Given the description of an element on the screen output the (x, y) to click on. 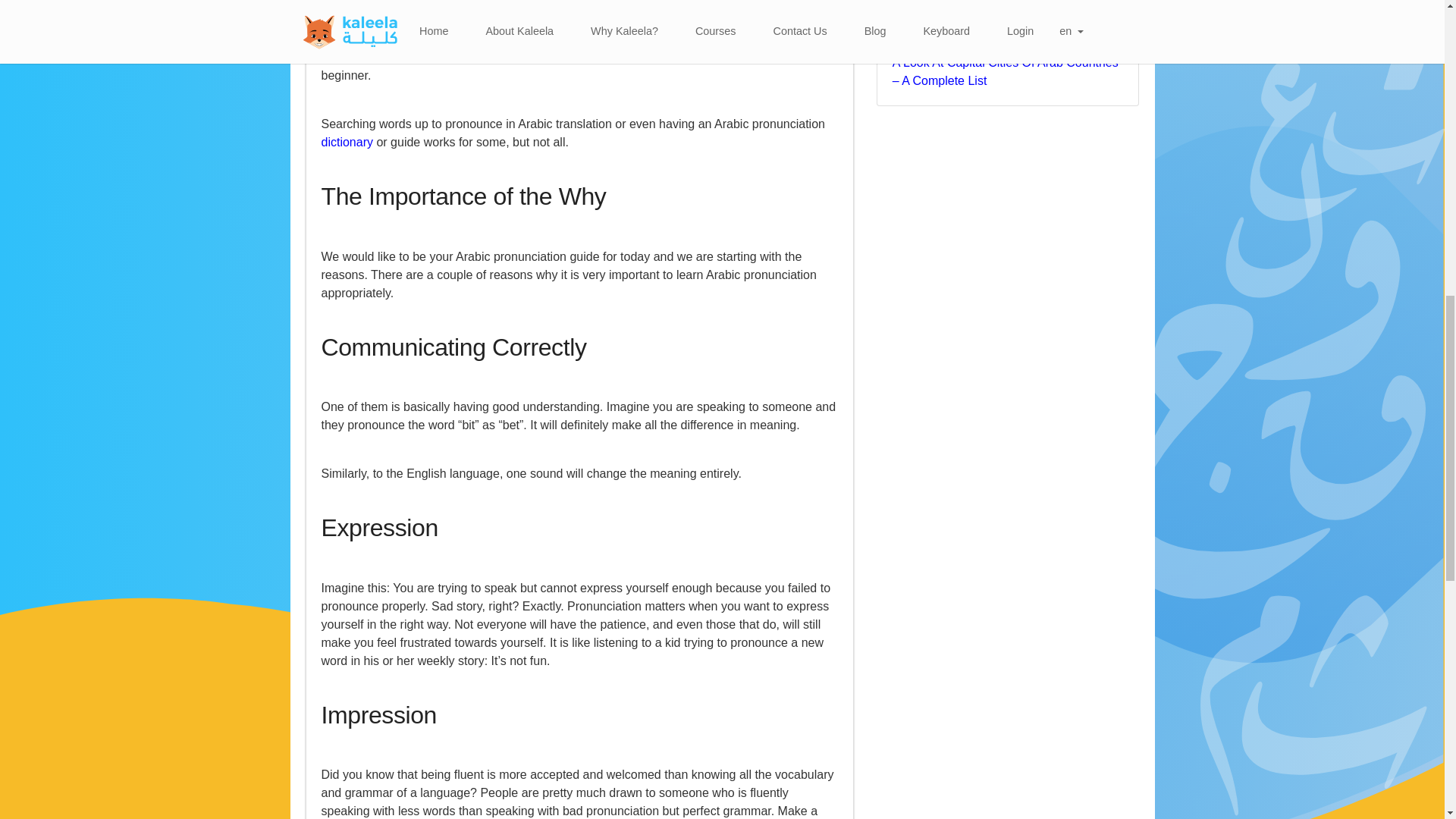
dictionary (346, 141)
